Given the description of an element on the screen output the (x, y) to click on. 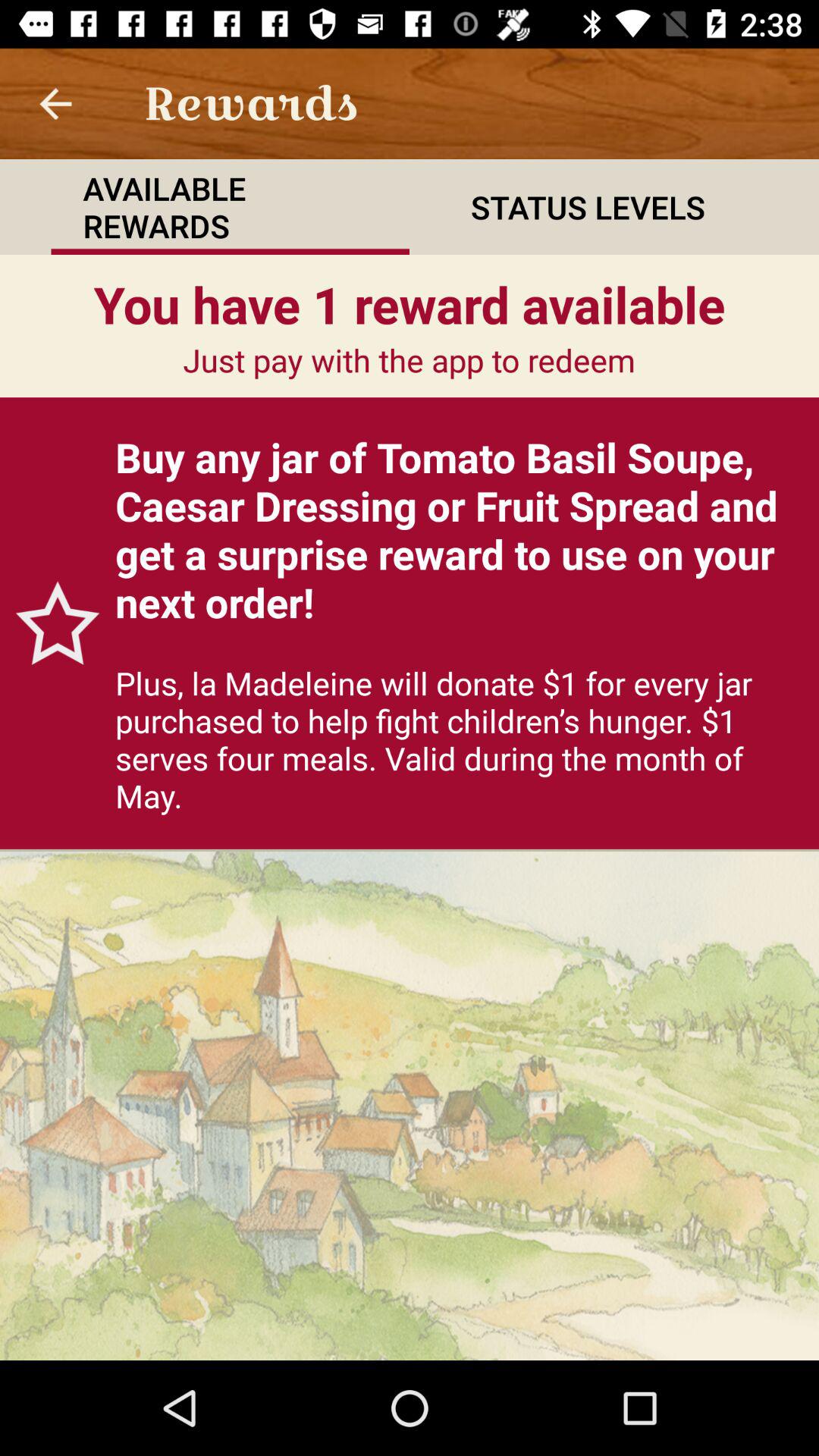
turn on icon below you have 1 item (49, 622)
